Given the description of an element on the screen output the (x, y) to click on. 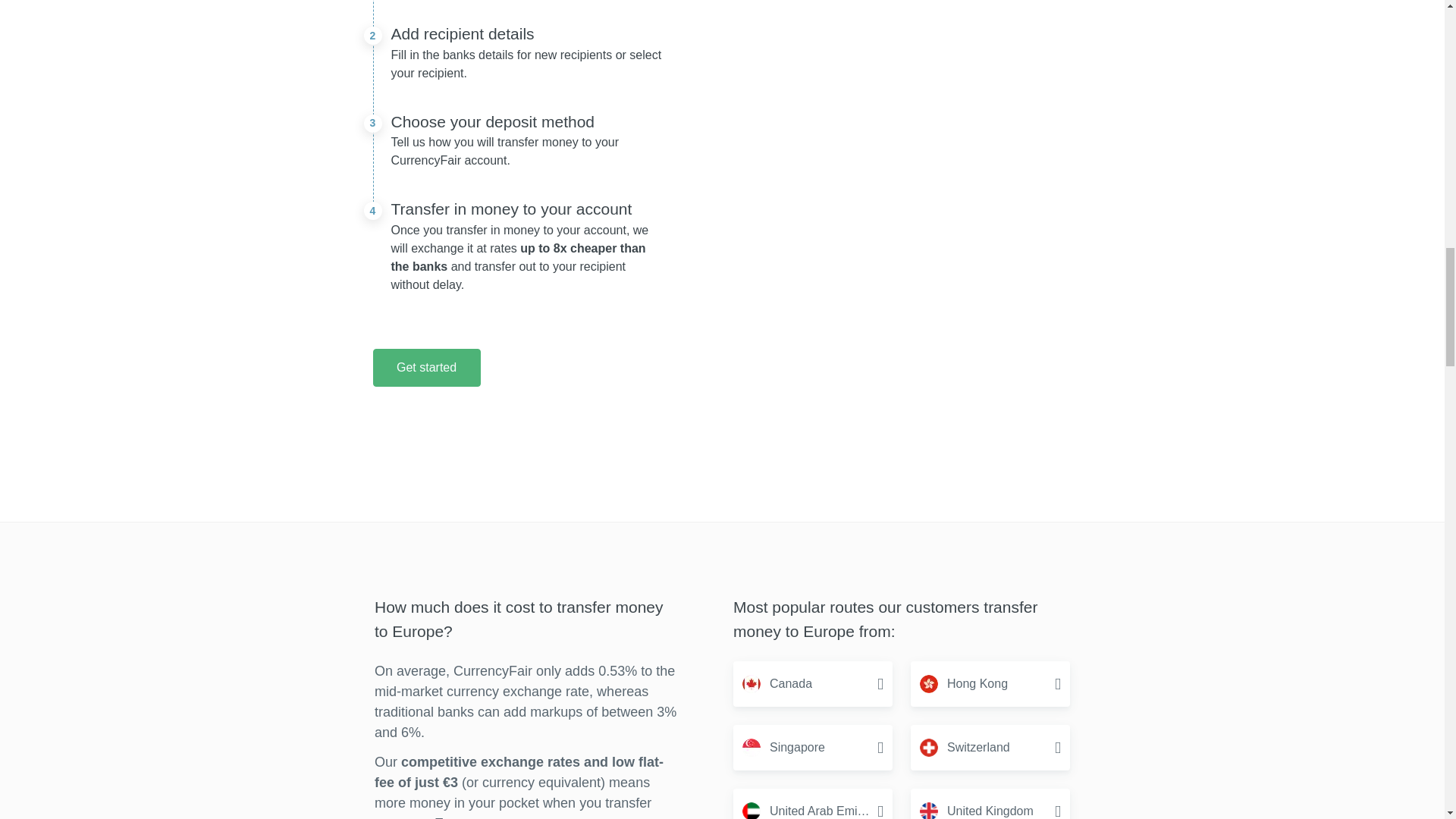
Hong Kong (990, 683)
Singapore (812, 747)
Get started (426, 367)
Canada (812, 683)
United Arab Emirates (812, 803)
Switzerland (990, 747)
